Given the description of an element on the screen output the (x, y) to click on. 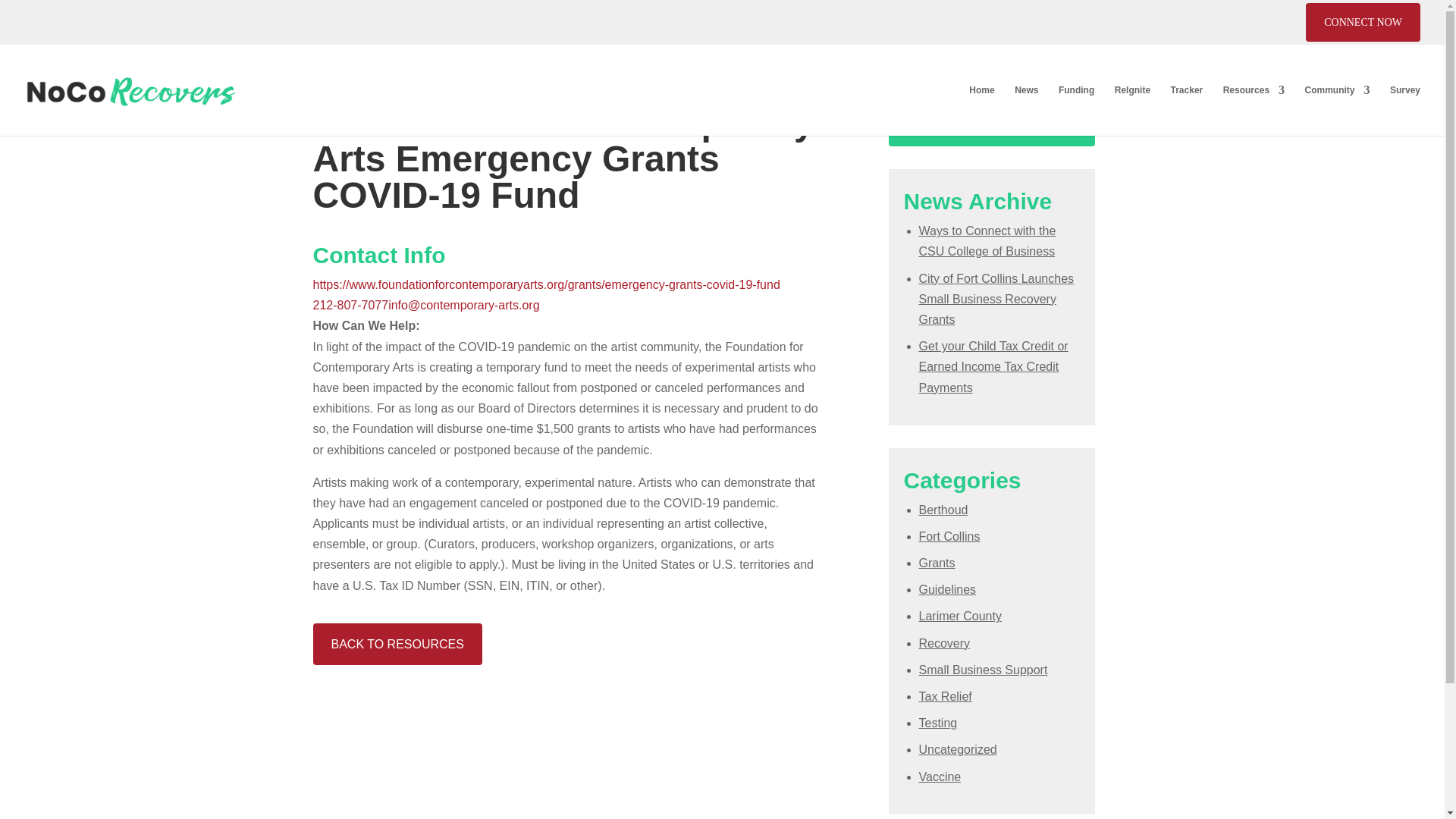
Ways to Connect with the CSU College of Business (987, 240)
Small Business Support (983, 669)
City of Fort Collins Launches Small Business Recovery Grants (996, 298)
Berthoud (943, 509)
Tax Relief (945, 696)
Guidelines (947, 589)
Larimer County (959, 615)
Fort Collins (948, 535)
Grants (936, 562)
